Given the description of an element on the screen output the (x, y) to click on. 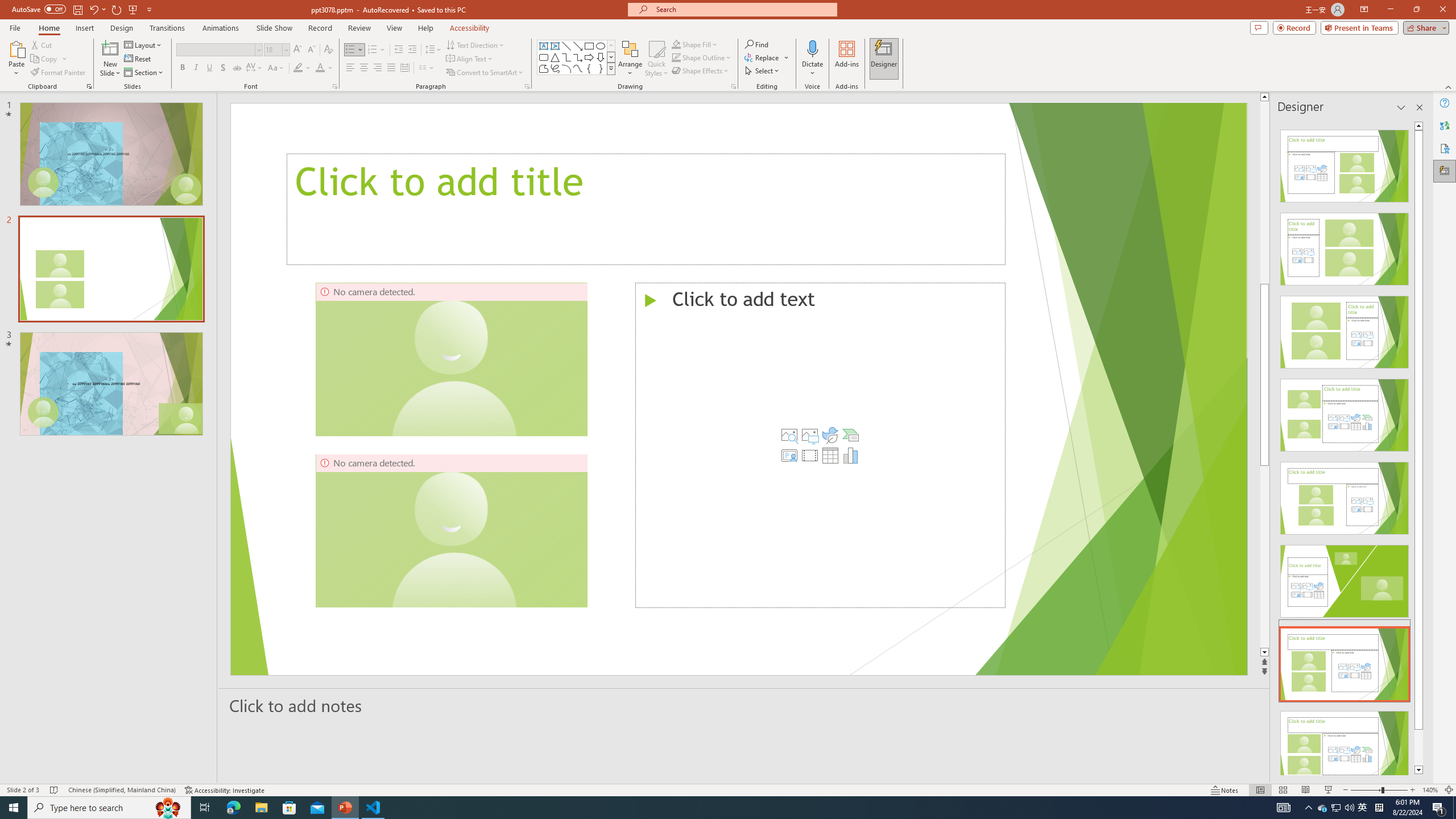
Content Placeholder (820, 444)
